Given the description of an element on the screen output the (x, y) to click on. 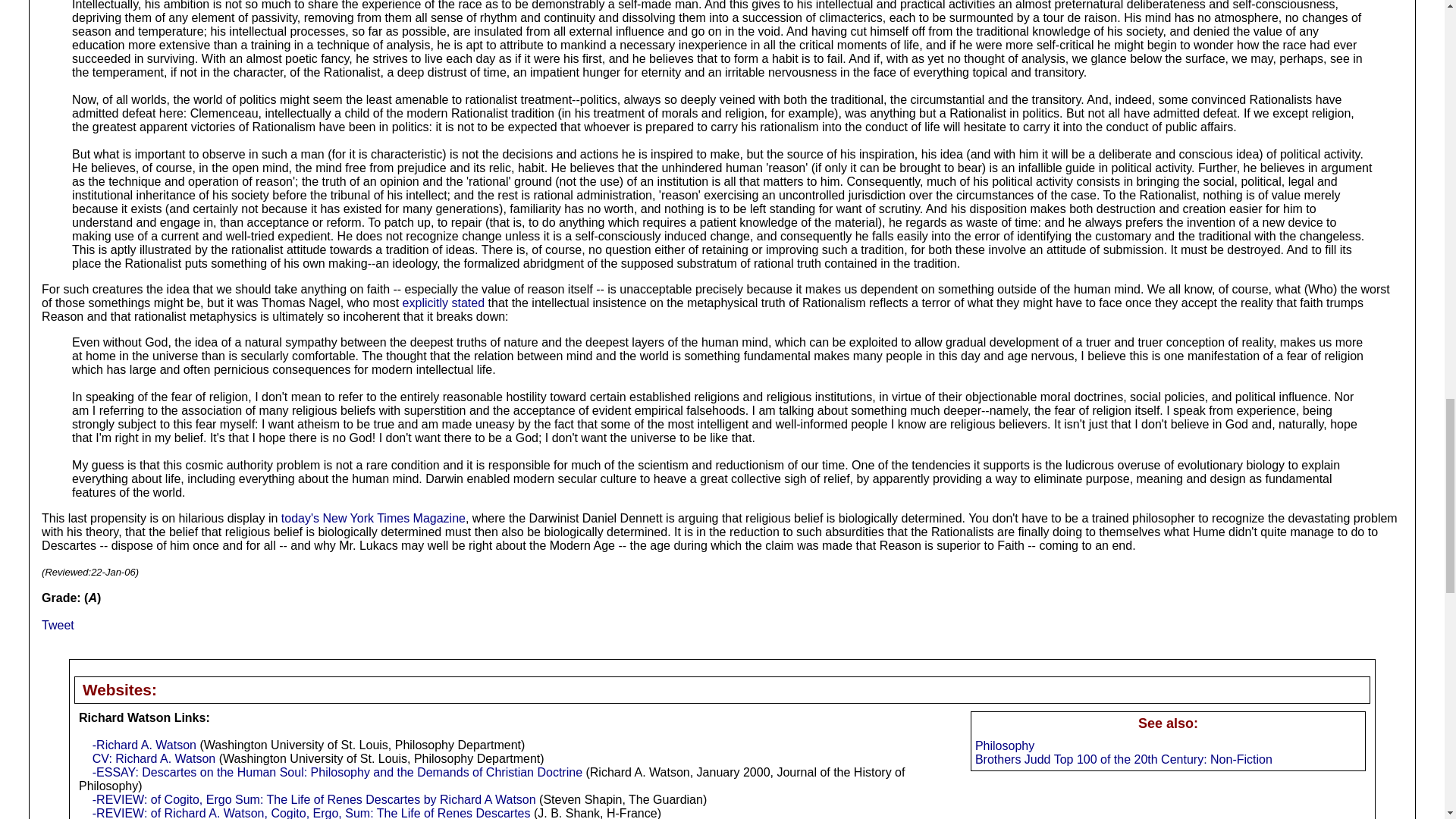
Philosophy (1004, 745)
CV: Richard A. Watson (154, 758)
explicitly stated (443, 302)
Tweet (58, 625)
-Richard A. Watson (144, 744)
today's New York Times Magazine (373, 517)
Brothers Judd Top 100 of the 20th Century: Non-Fiction (1123, 758)
